Given the description of an element on the screen output the (x, y) to click on. 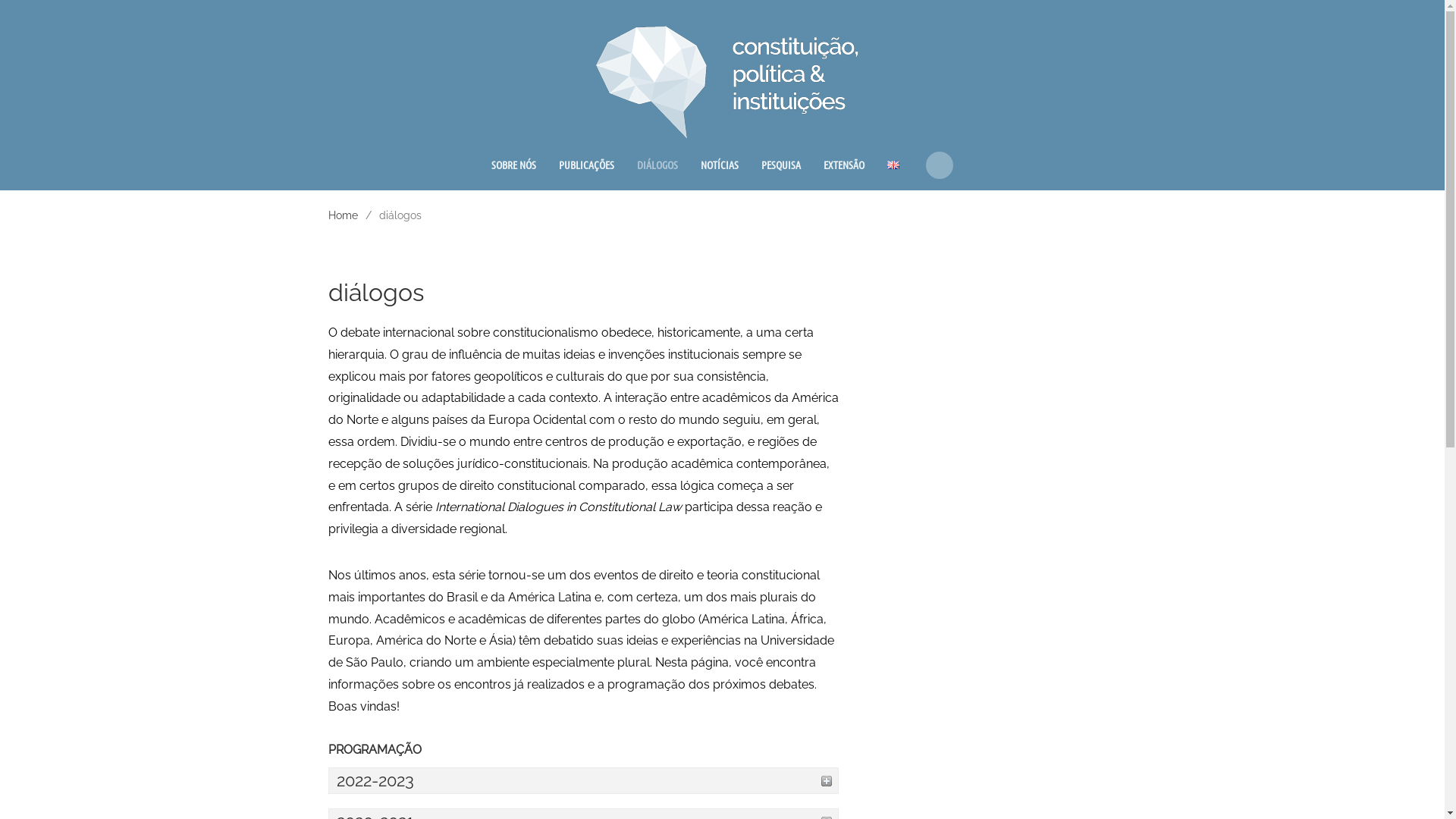
Home Element type: text (342, 215)
2022-2023 Element type: text (583, 780)
PESQUISA Element type: text (780, 164)
Search Element type: hover (939, 164)
